Given the description of an element on the screen output the (x, y) to click on. 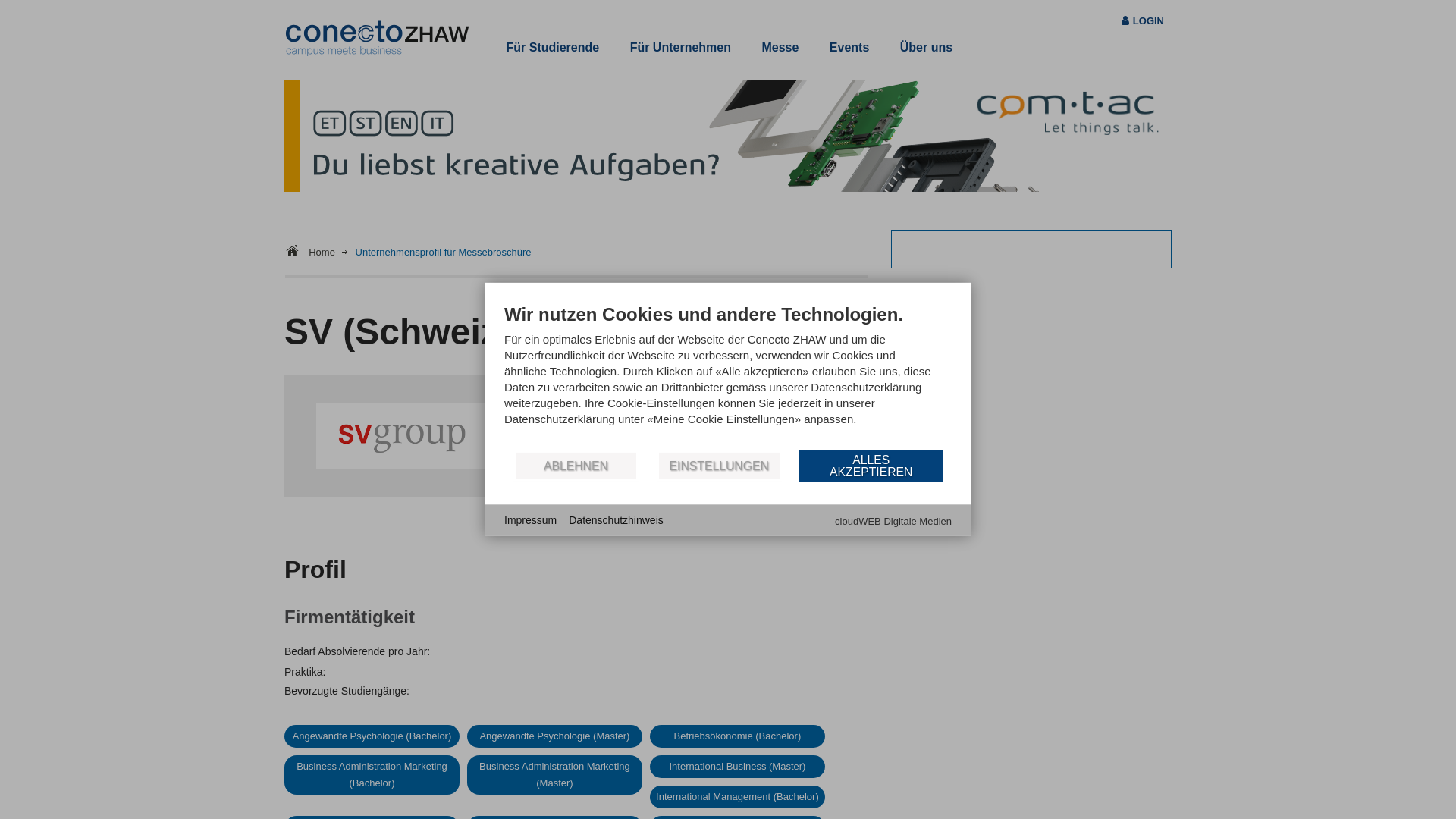
cloudWEB Digitale Medien Element type: text (892, 521)
Das Unternehmen hat keine Jobangebote. Element type: text (743, 518)
Datenschutzhinweis Element type: text (615, 520)
ALLES AKZEPTIEREN Element type: text (870, 465)
ABLEHNEN Element type: text (575, 465)
LOGIN Element type: text (1148, 20)
EINSTELLUNGEN Element type: text (718, 465)
Conecto ZHAW Element type: hover (376, 38)
Home Element type: text (327, 251)
Mail Element type: text (712, 462)
Messe Element type: text (779, 47)
Events Element type: text (848, 47)
zur Webseite Element type: text (564, 462)
Impressum Element type: text (530, 520)
